Given the description of an element on the screen output the (x, y) to click on. 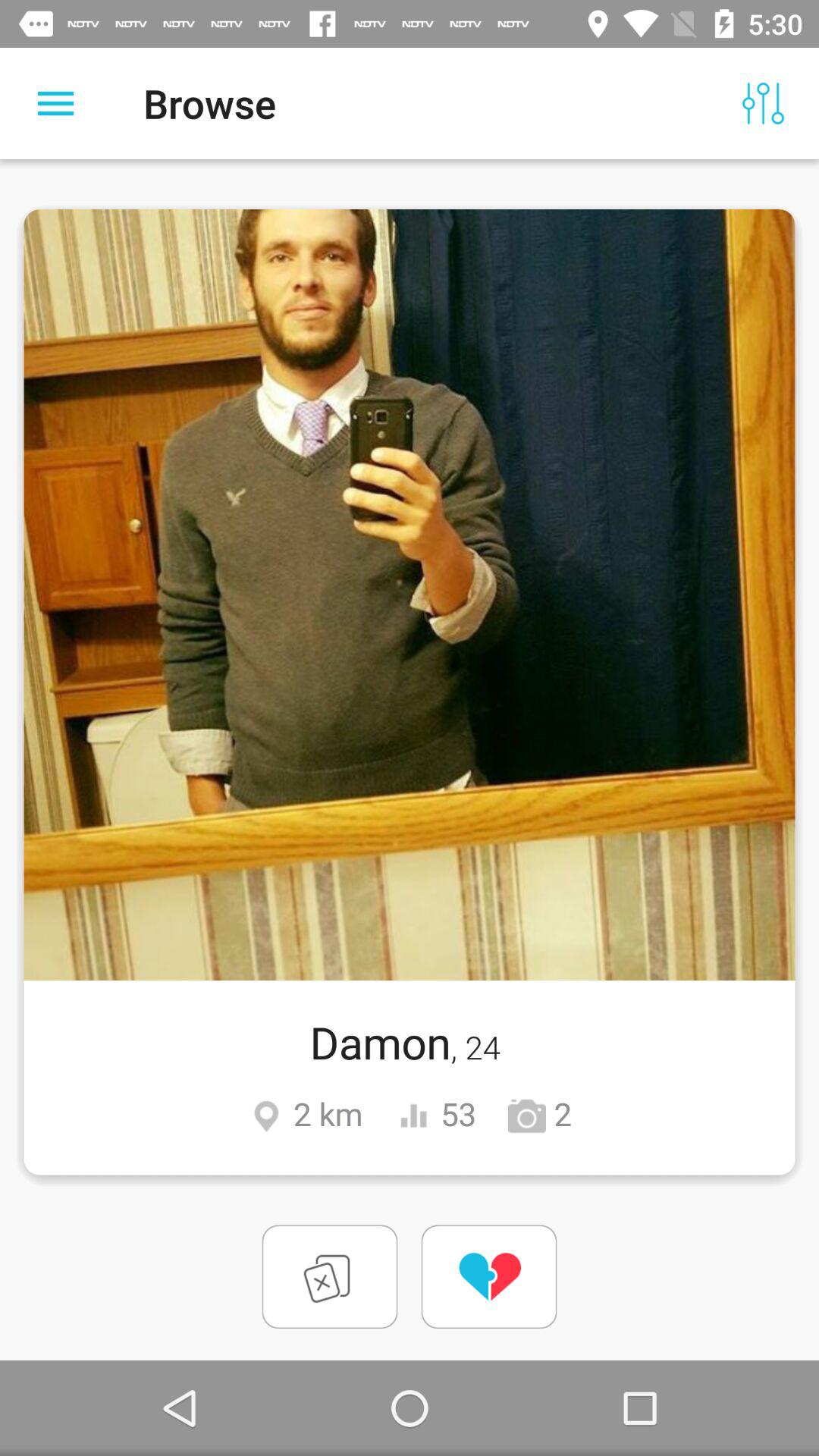
see menu (55, 103)
